Given the description of an element on the screen output the (x, y) to click on. 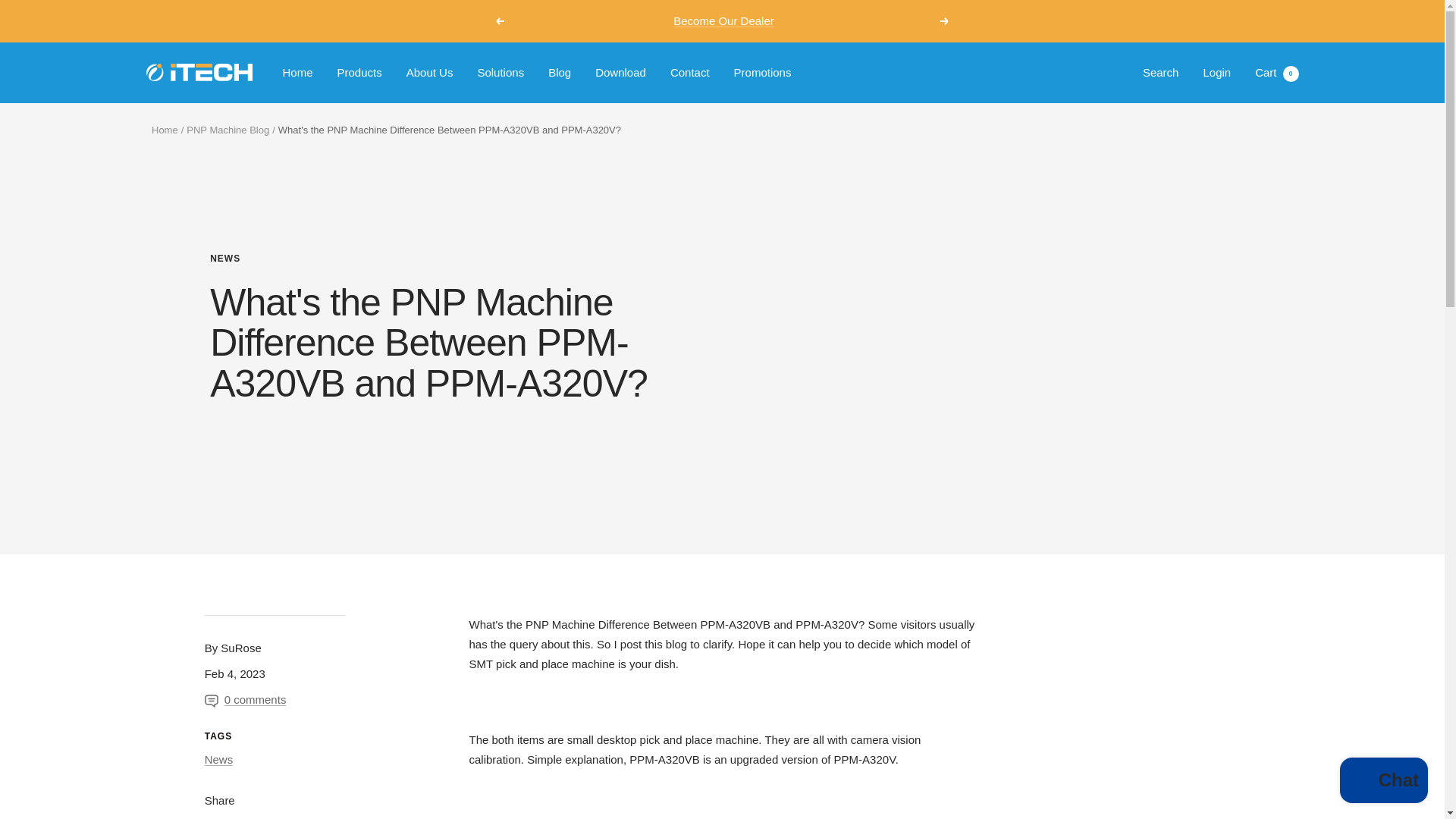
News (218, 758)
Download (620, 72)
Contact (689, 72)
About Us (429, 72)
Previous (499, 21)
Login (1216, 72)
Promotions (762, 72)
Home (164, 129)
Search (1160, 72)
iTECH SMT and THT Machines (198, 72)
PNP Machine Blog (227, 129)
Shopify online store chat (1383, 781)
Products (359, 72)
Blog (559, 72)
Home (297, 72)
